Given the description of an element on the screen output the (x, y) to click on. 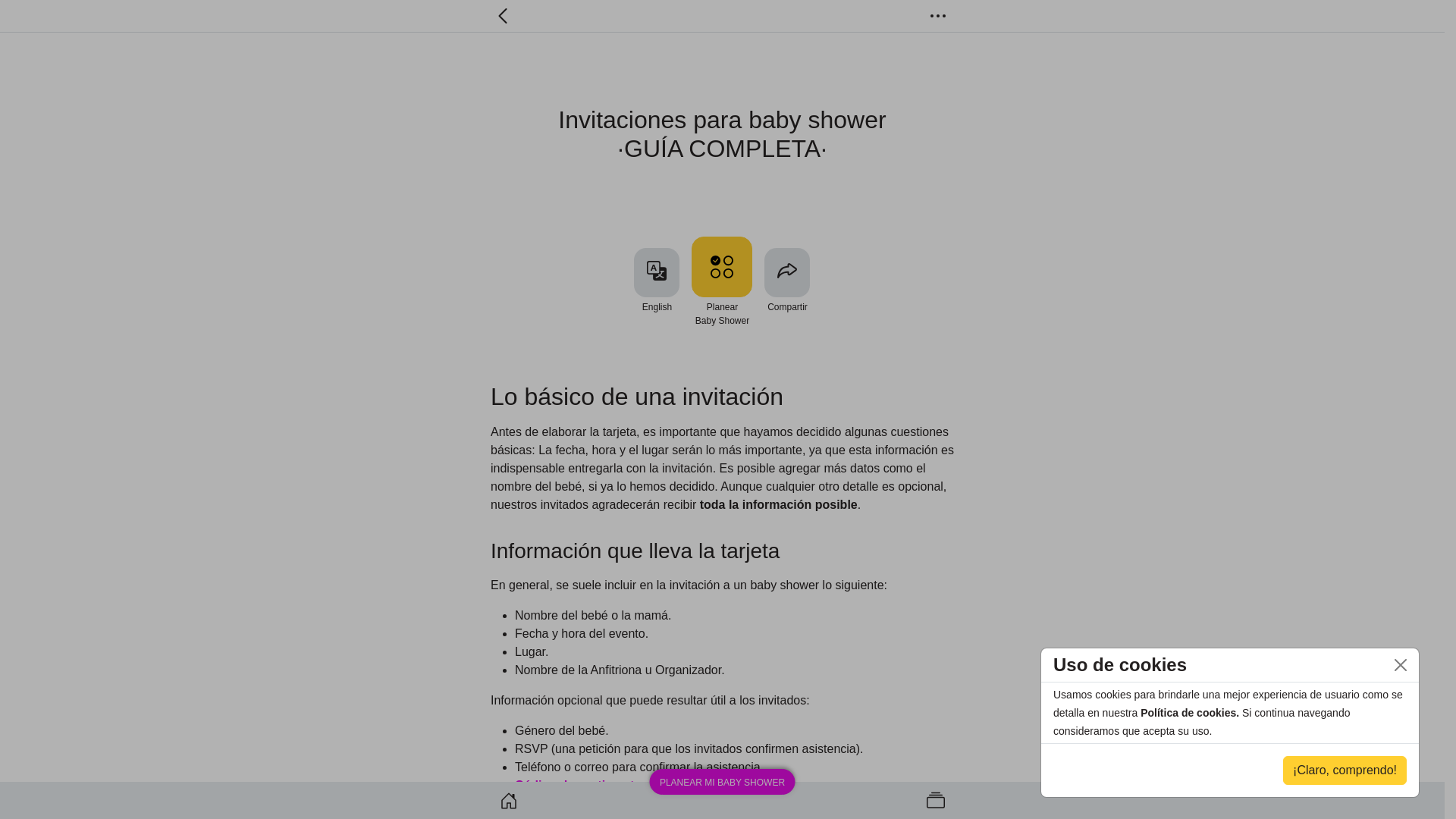
PLANEAR MI BABY SHOWER Element type: text (721, 781)
Baby shower home Element type: hover (508, 799)
